Given the description of an element on the screen output the (x, y) to click on. 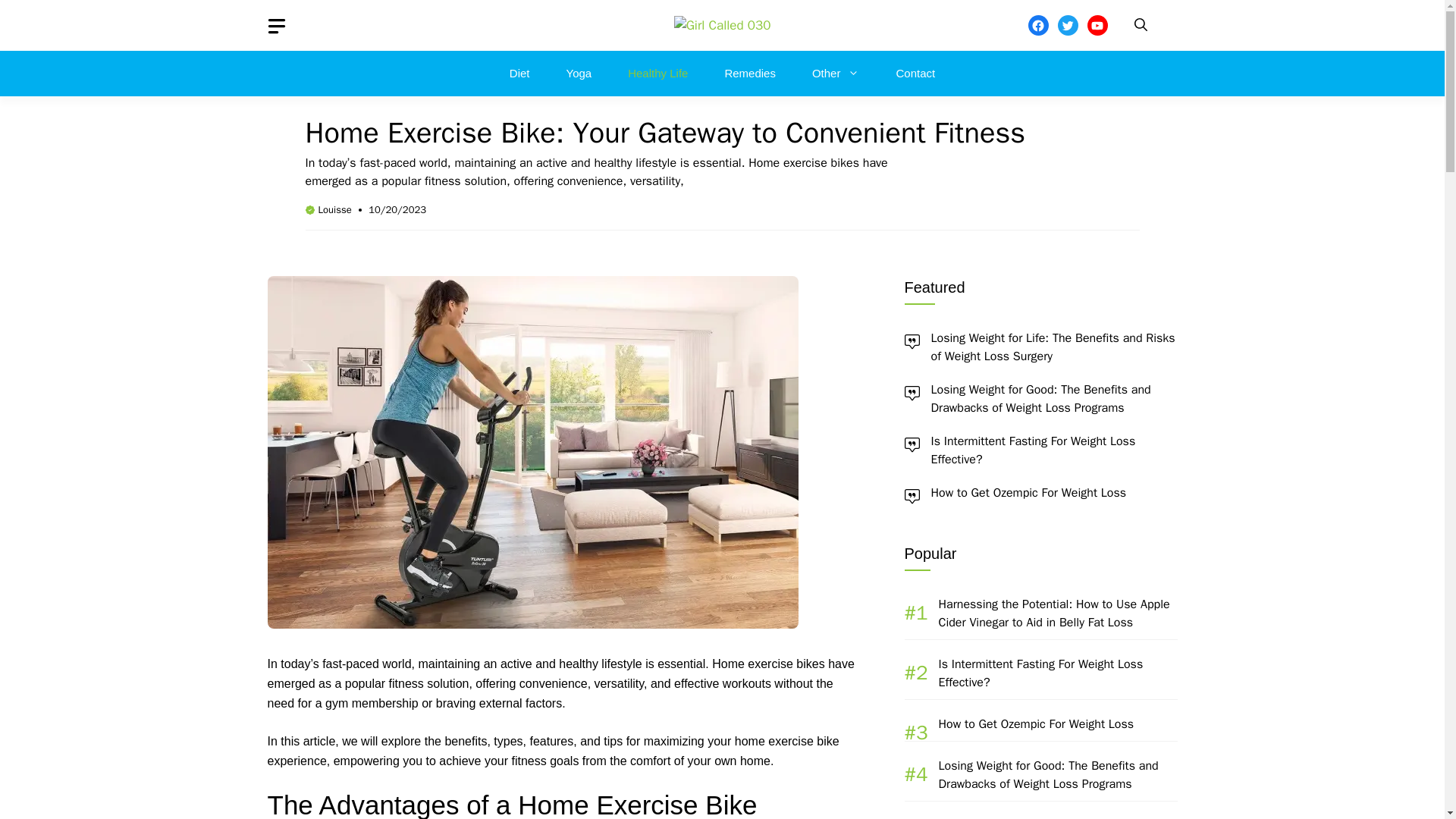
Facebook (1037, 25)
How to Get Ozempic For Weight Loss (1028, 492)
Remedies (749, 73)
Other (835, 73)
Louisse (335, 209)
Healthy Life (657, 73)
Diet (519, 73)
